Given the description of an element on the screen output the (x, y) to click on. 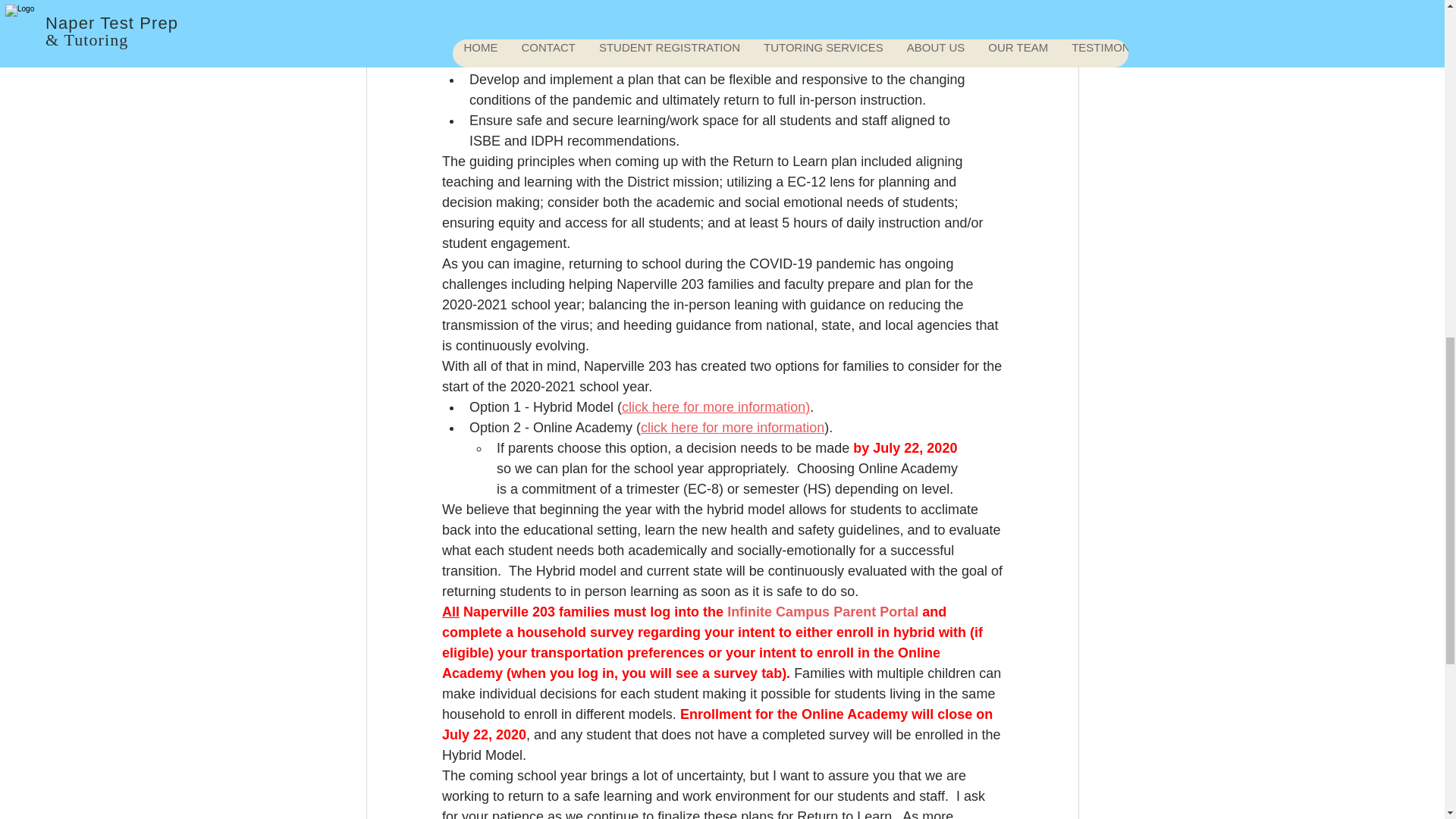
click here for more information (732, 427)
Infinite Campus Parent Portal (822, 611)
